Given the description of an element on the screen output the (x, y) to click on. 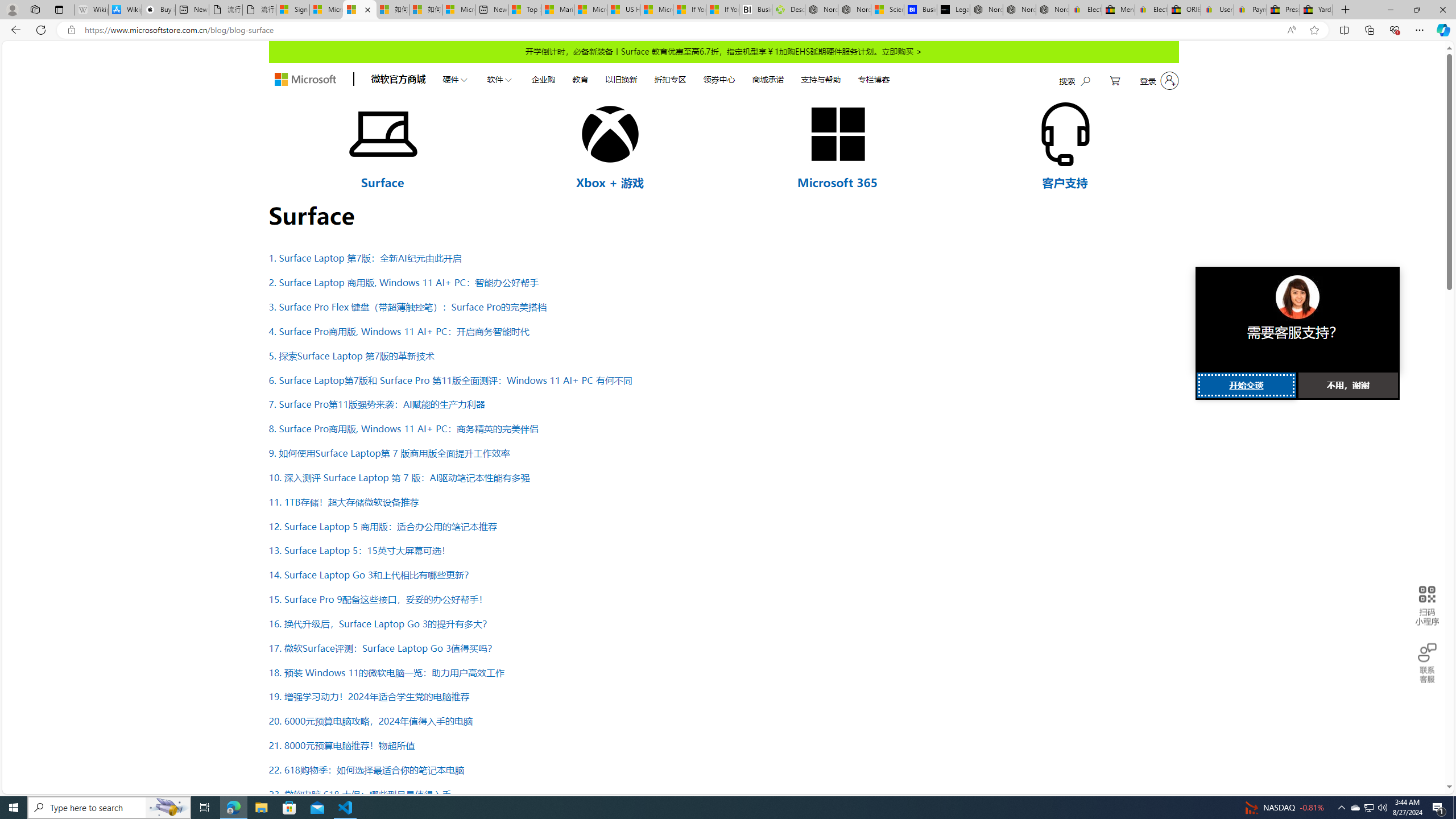
Buy iPad - Apple (158, 9)
My Cart (1115, 80)
